Given the description of an element on the screen output the (x, y) to click on. 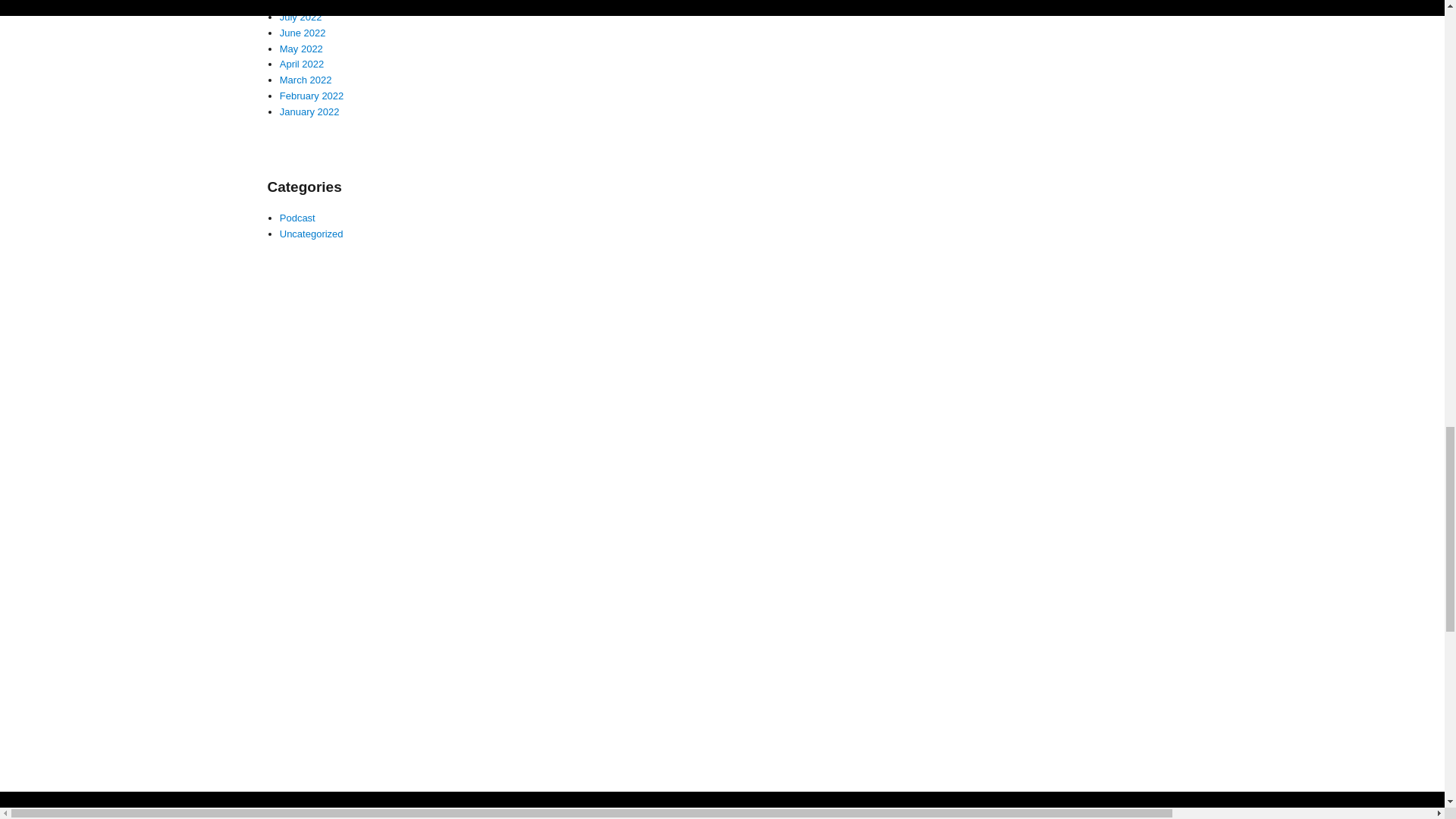
July 2022 (300, 16)
August 2022 (306, 3)
